Given the description of an element on the screen output the (x, y) to click on. 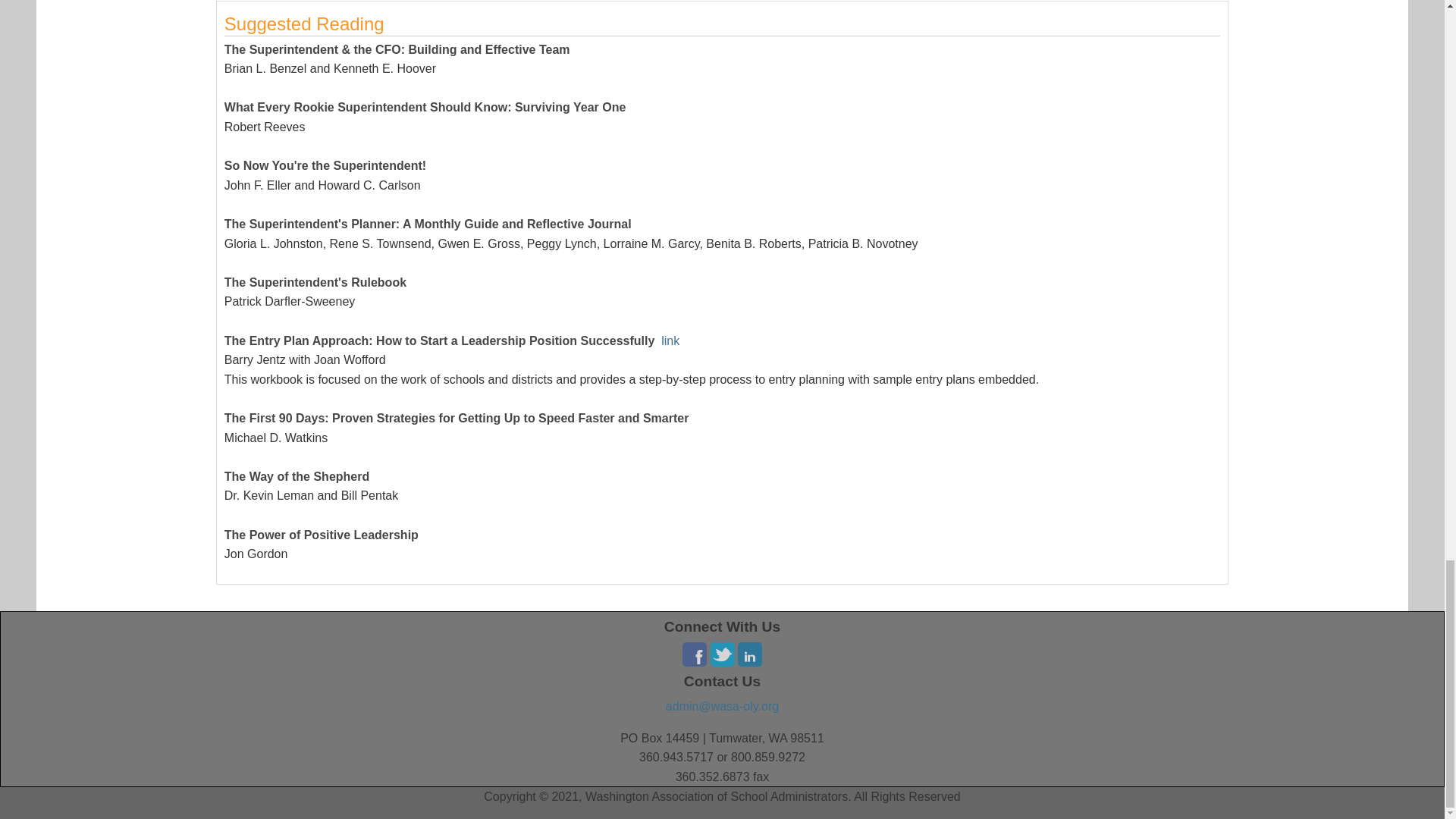
Visit our Facebook page (694, 651)
Visit our Twitter page (721, 651)
Visit our LinkedIn page (749, 651)
